Given the description of an element on the screen output the (x, y) to click on. 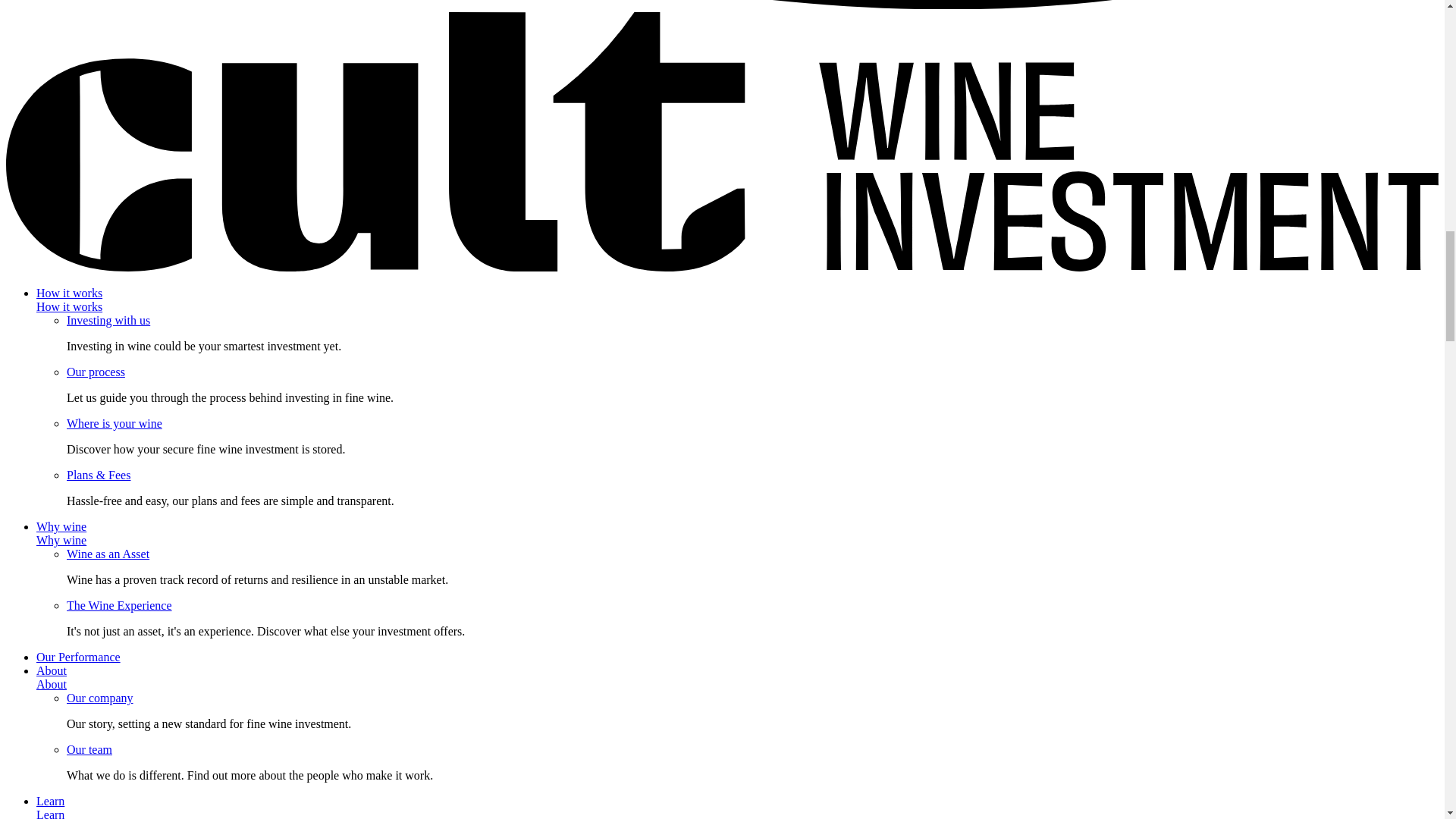
Wine Market News (748, 733)
HOW IT WORKS (311, 30)
WINE ACADEMY (296, 90)
WHY WINE (410, 30)
INSIGHTS (1059, 90)
MAGAZINE (1138, 90)
OUR PERFORMANCE (523, 30)
EXPLORE WINES (961, 90)
REPORTS (1217, 90)
BOOK A CALL (775, 30)
